Given the description of an element on the screen output the (x, y) to click on. 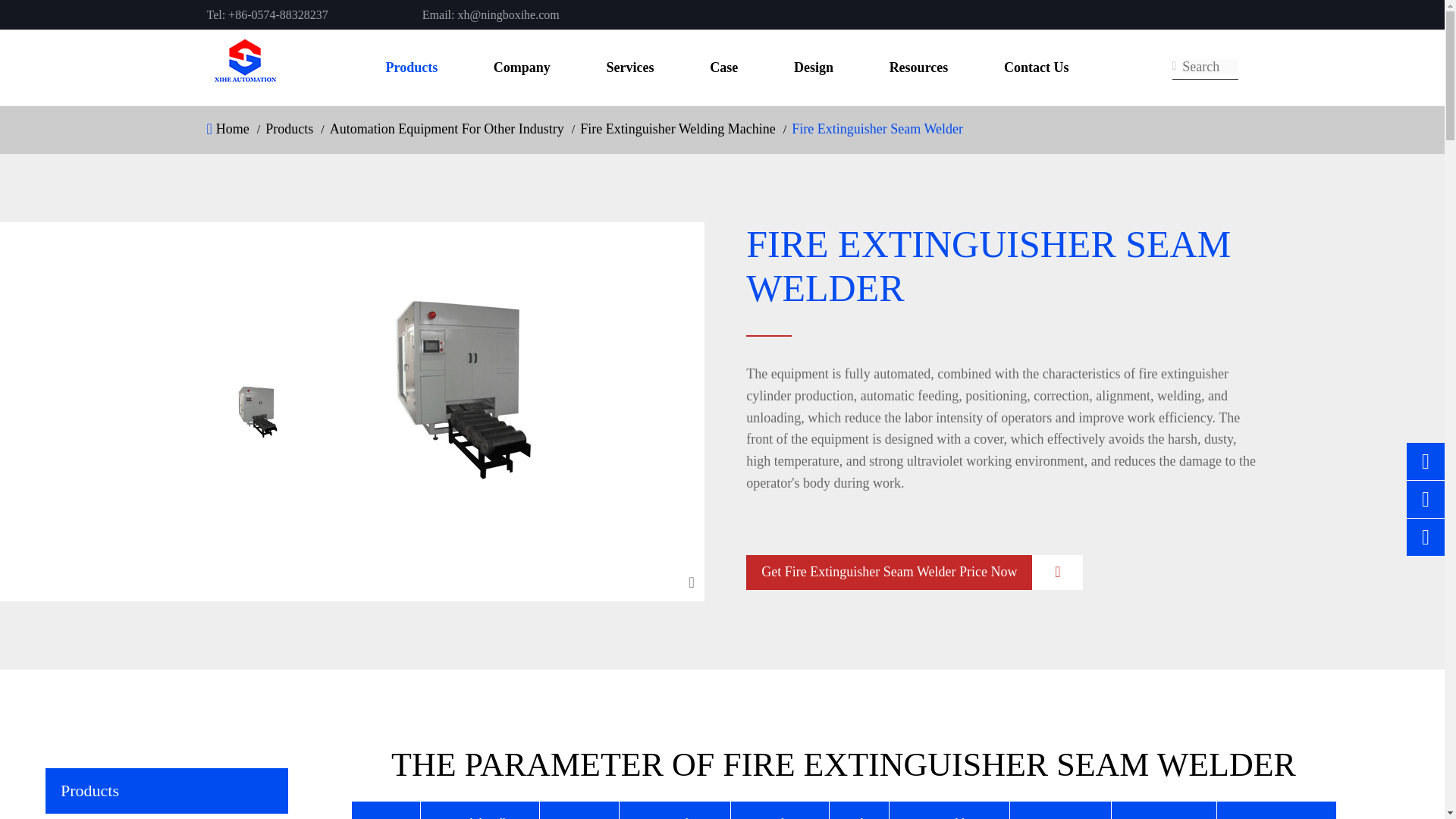
NINGBO XIHE AUTOMATION EQUIPMENT CO.,LTD.  (244, 67)
Fire Extinguisher Seam Welder (877, 132)
fire extinguisher seam welder (257, 411)
Products (288, 132)
Fire Extinguisher Welding Machine (677, 132)
fire extinguisher seam welder (462, 388)
Automation Equipment For Other Industry (447, 132)
